Given the description of an element on the screen output the (x, y) to click on. 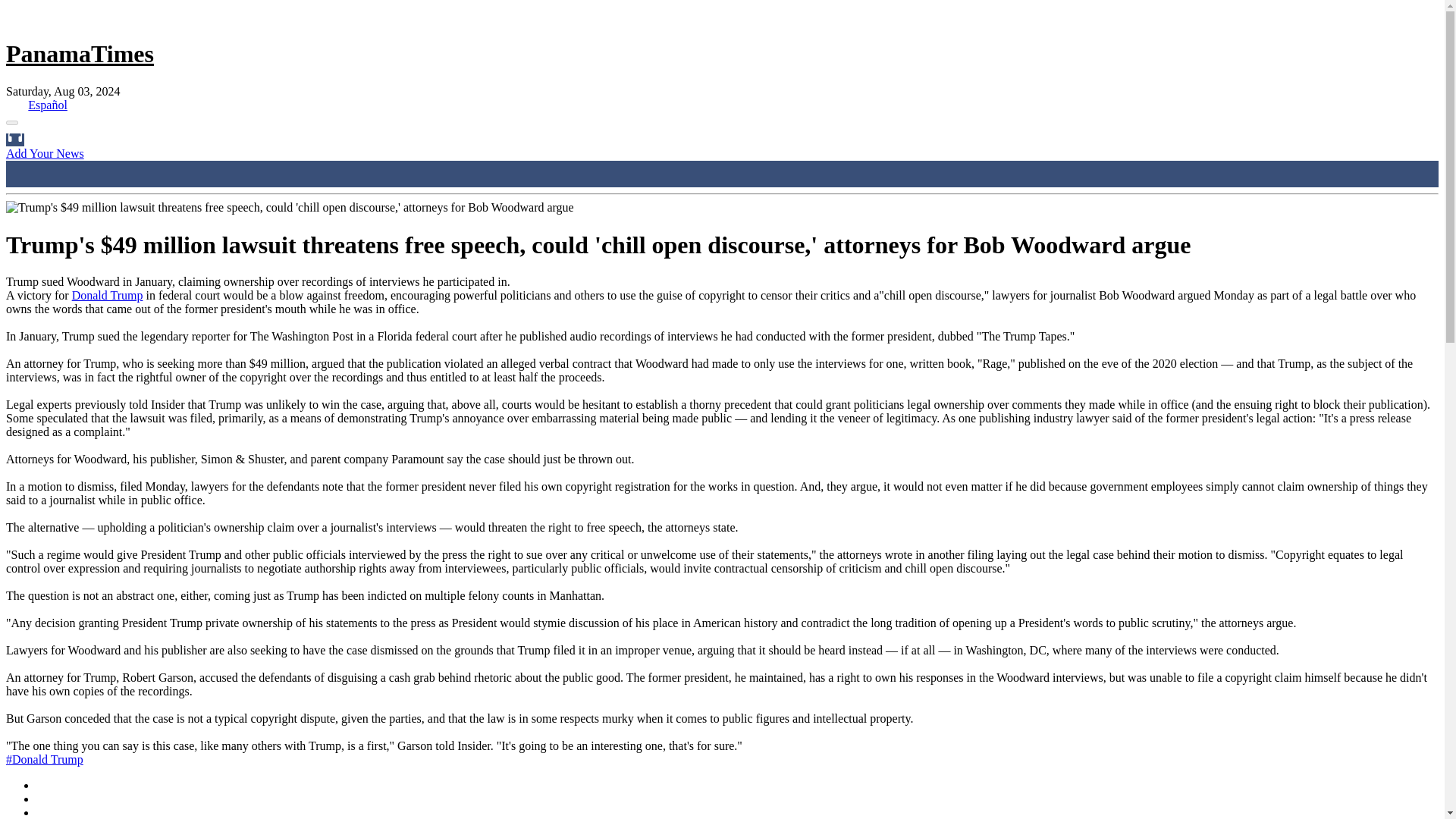
Add Your News (44, 153)
Donald Trump (106, 295)
PanamaTimes (79, 53)
